Given the description of an element on the screen output the (x, y) to click on. 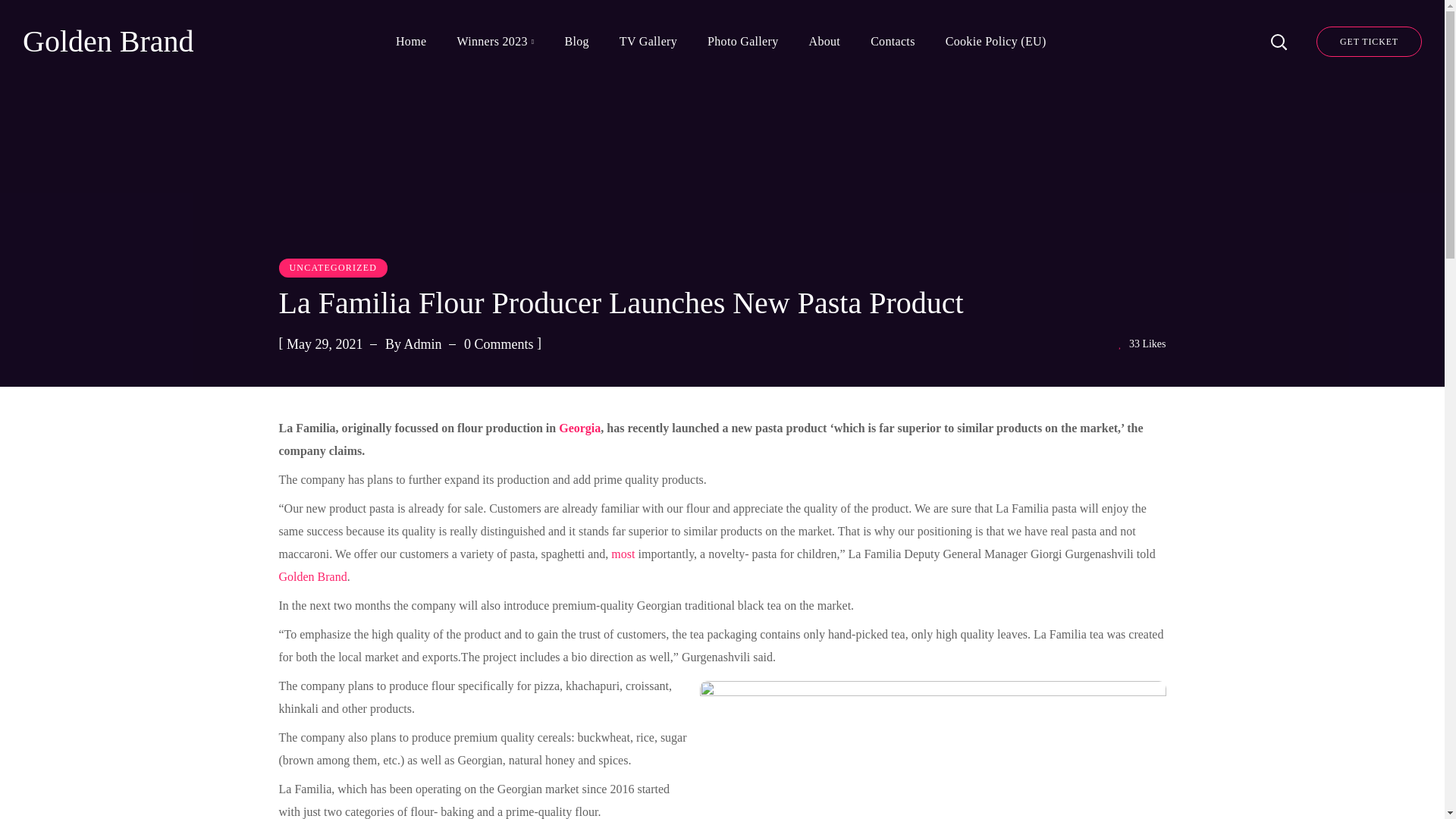
Georgia (579, 427)
Golden Brand (108, 41)
Search (1238, 121)
GET TICKET (1369, 41)
Winner (313, 576)
Photo Gallery (743, 41)
Like (1142, 343)
Contacts (893, 41)
Search (1238, 38)
Winners 2023 (494, 41)
